Given the description of an element on the screen output the (x, y) to click on. 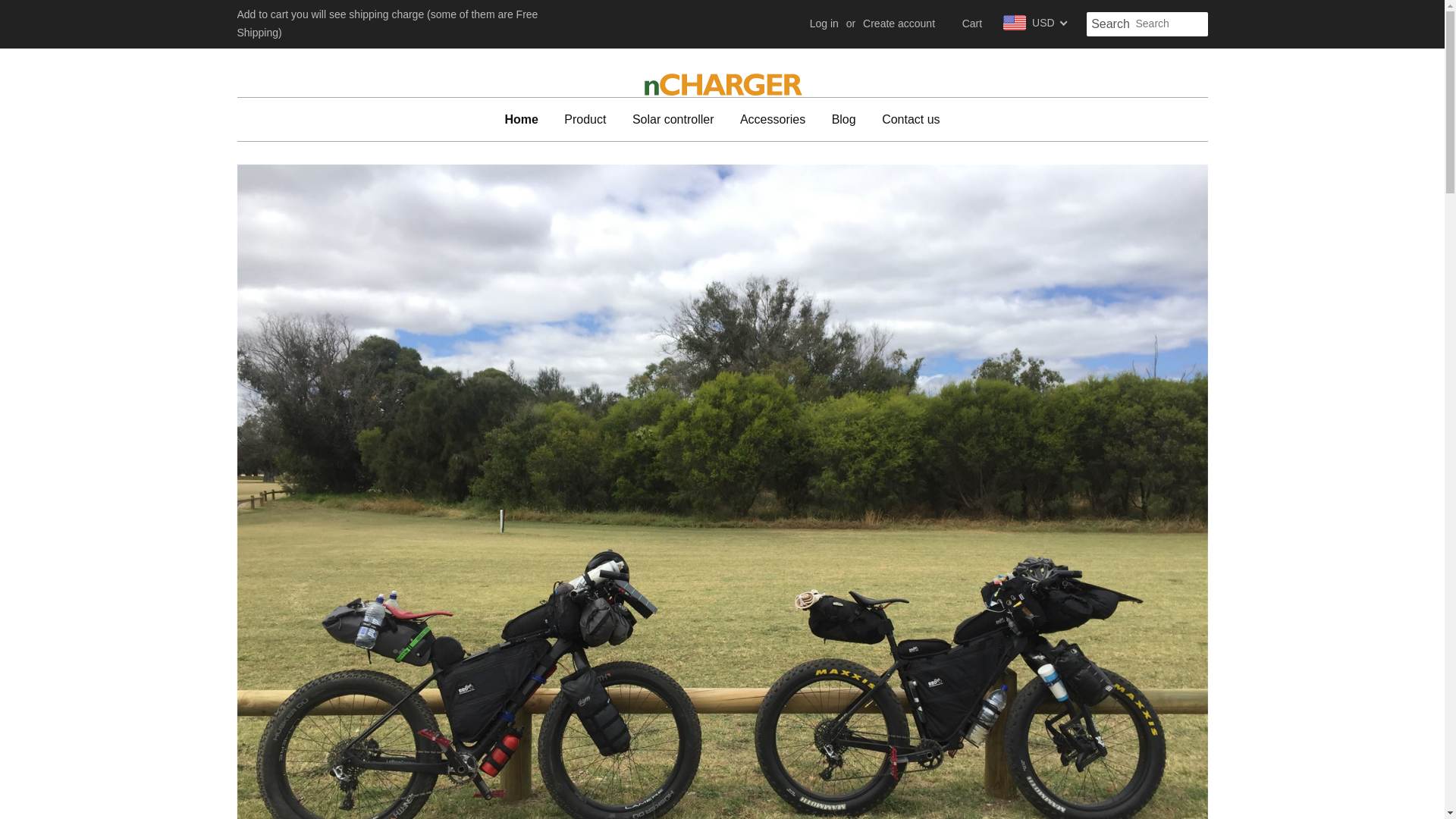
Search (1110, 24)
Solar controller (673, 118)
Product (585, 118)
Log in (823, 23)
Contact us (904, 118)
Blog (844, 118)
Accessories (772, 118)
Home (525, 118)
Create account (898, 23)
Cart (971, 24)
